Given the description of an element on the screen output the (x, y) to click on. 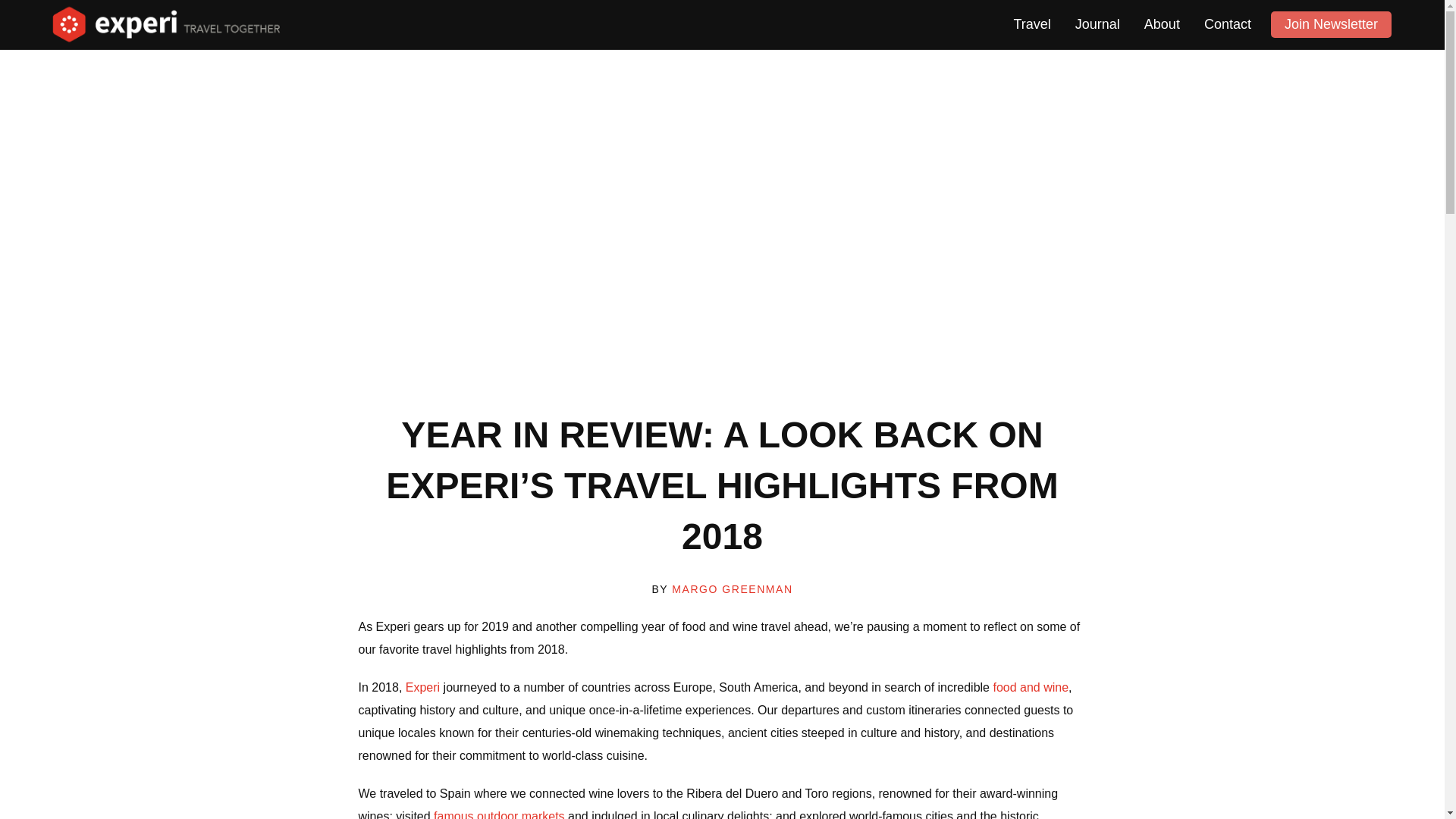
MARGO GREENMAN (731, 589)
Contact (1227, 24)
Journal (1097, 24)
Experi (422, 686)
famous outdoor markets (498, 814)
Join Newsletter (1331, 24)
Travel (1031, 24)
About (1162, 24)
food and wine (1030, 686)
